Given the description of an element on the screen output the (x, y) to click on. 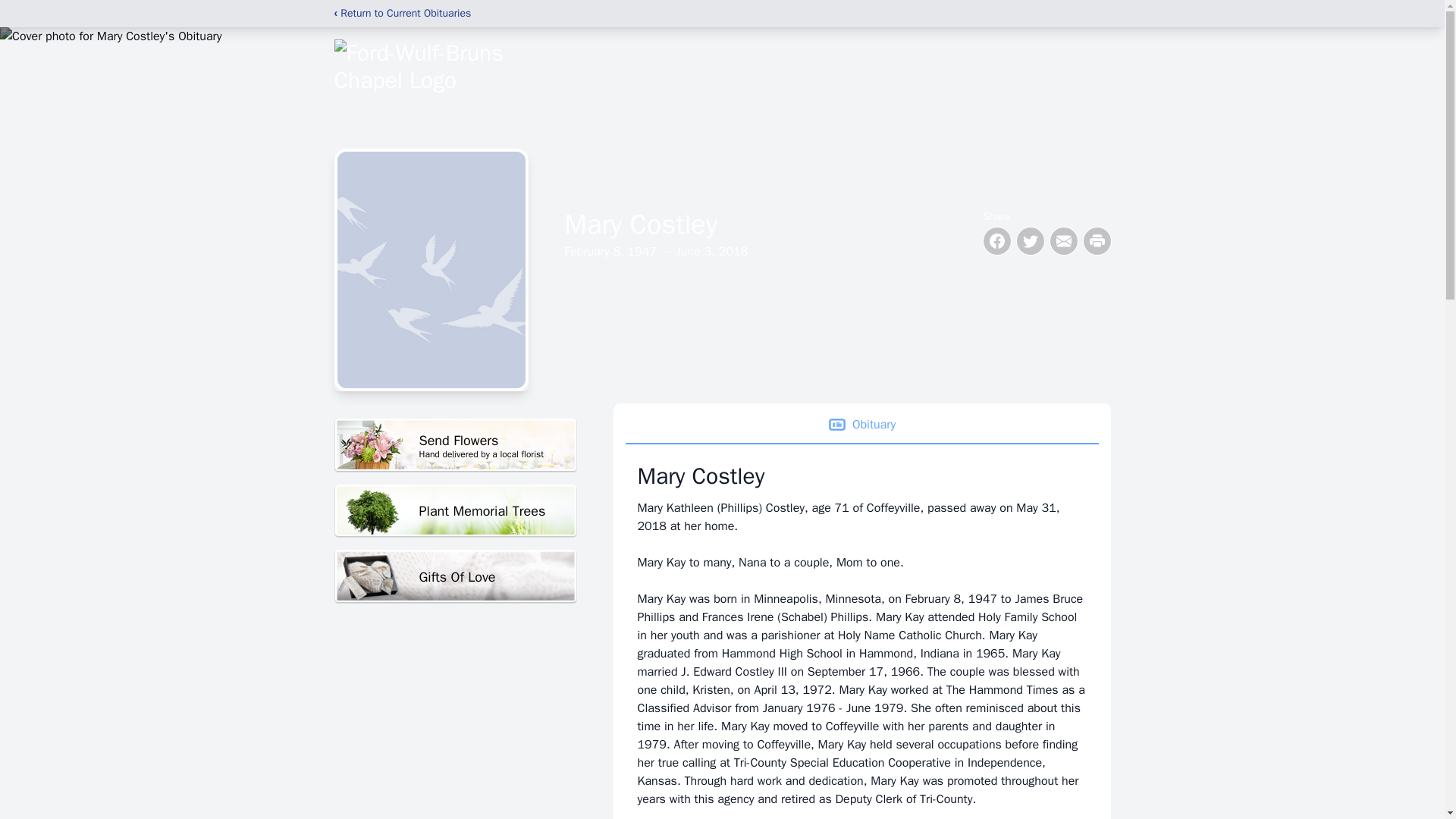
Obituary (860, 425)
Gifts Of Love (454, 445)
Plant Memorial Trees (454, 576)
